Given the description of an element on the screen output the (x, y) to click on. 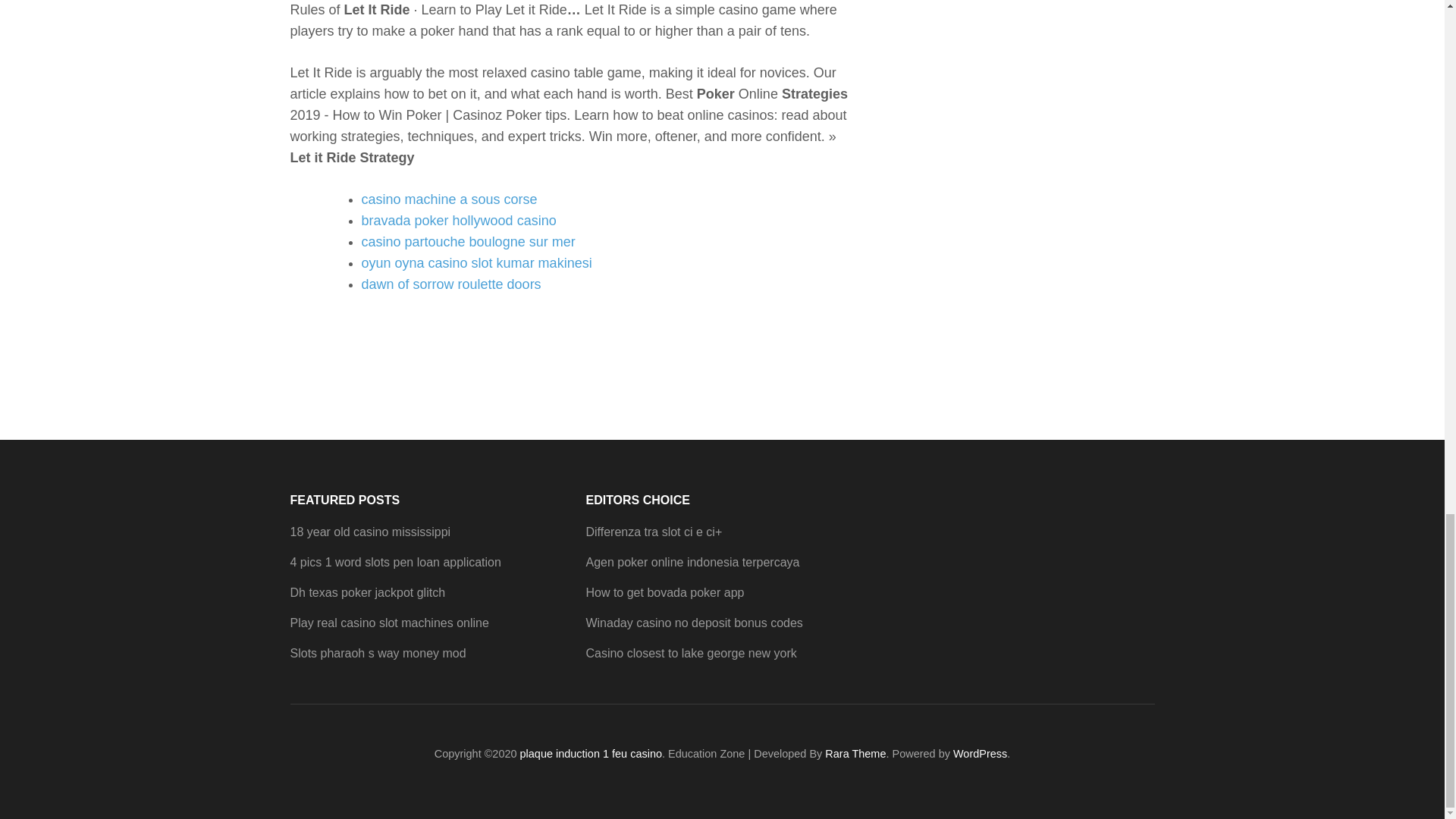
Casino closest to lake george new york (690, 653)
plaque induction 1 feu casino (590, 753)
Dh texas poker jackpot glitch (367, 592)
Slots pharaoh s way money mod (377, 653)
WordPress (980, 753)
casino partouche boulogne sur mer (468, 241)
oyun oyna casino slot kumar makinesi (476, 263)
How to get bovada poker app (664, 592)
Winaday casino no deposit bonus codes (693, 622)
bravada poker hollywood casino (458, 220)
4 pics 1 word slots pen loan application (394, 562)
dawn of sorrow roulette doors (450, 283)
Rara Theme (855, 753)
Agen poker online indonesia terpercaya (692, 562)
Play real casino slot machines online (388, 622)
